Given the description of an element on the screen output the (x, y) to click on. 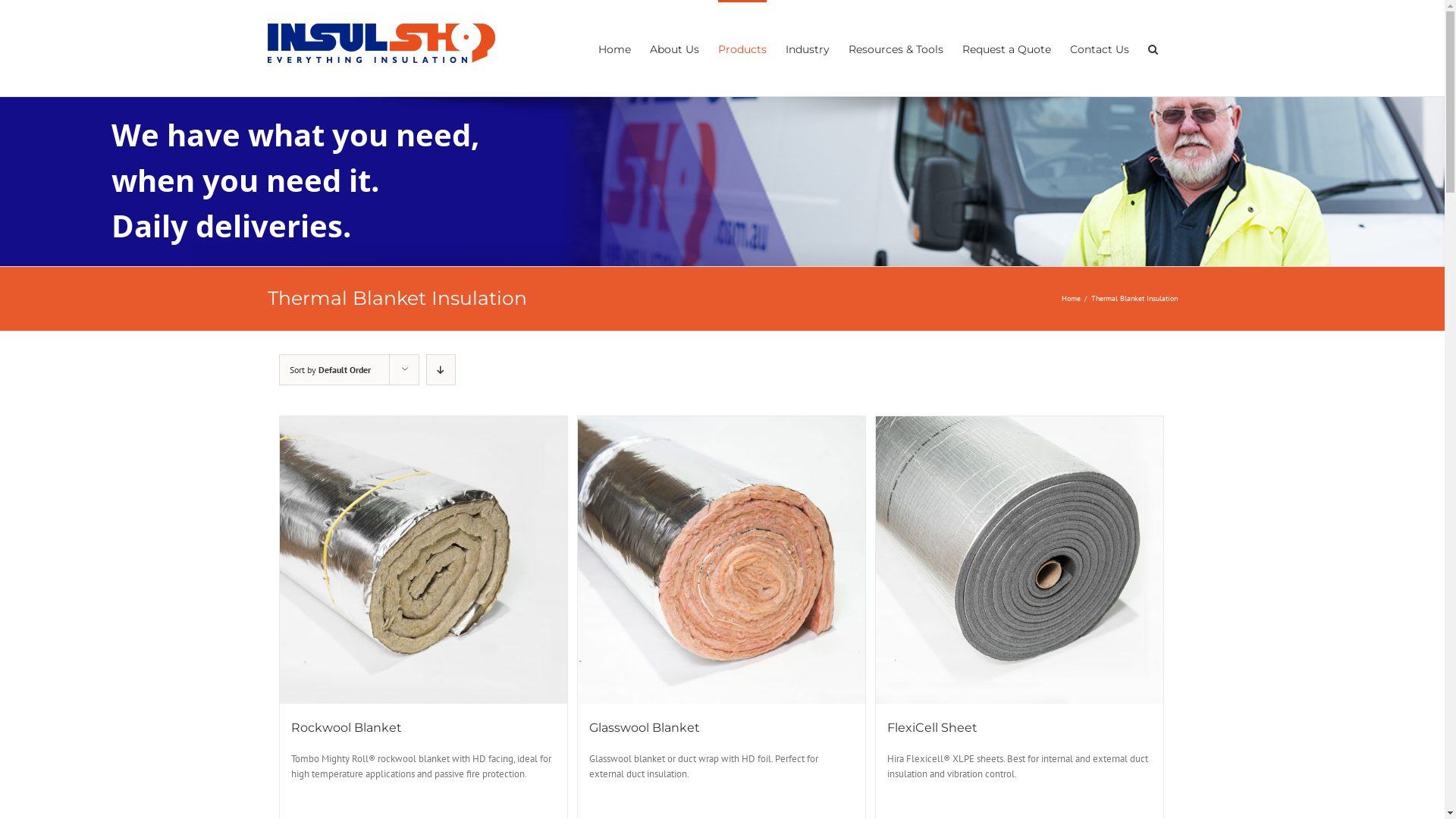
Search Element type: hover (1153, 48)
About Us Element type: text (673, 48)
FlexiCell Sheet Element type: text (932, 727)
Home Element type: text (613, 48)
Sort by Default Order Element type: text (329, 369)
Resources & Tools Element type: text (894, 48)
Home Element type: text (1070, 298)
Rockwool Blanket Element type: text (346, 727)
Industry Element type: text (807, 48)
Request a Quote Element type: text (1005, 48)
Contact Us Element type: text (1098, 48)
Glasswool Blanket Element type: text (644, 727)
Products Element type: text (741, 48)
